Given the description of an element on the screen output the (x, y) to click on. 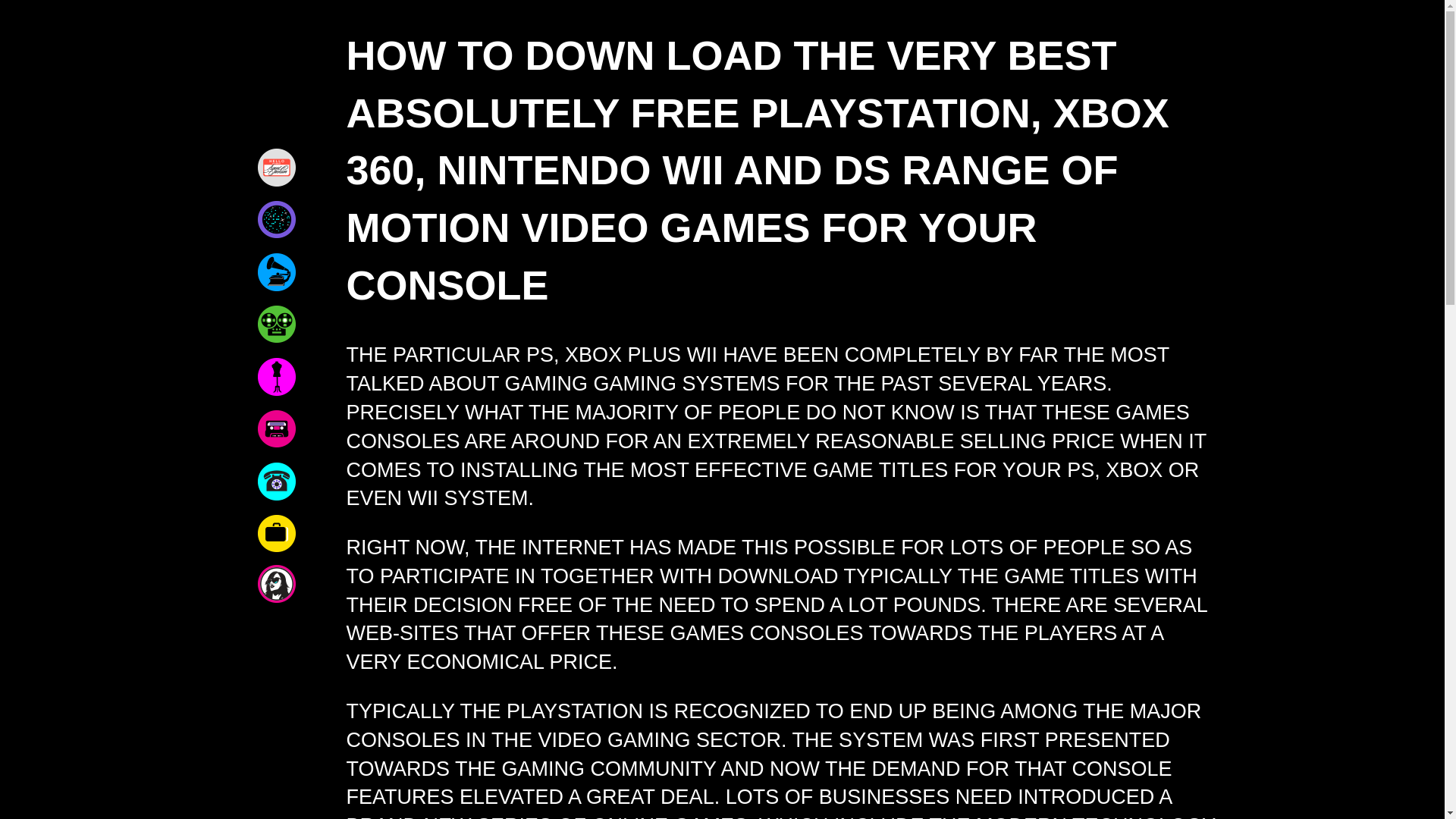
AGENT JACKSON :: LOVE IS LIFE. LIFE IS LOVE (276, 80)
